Given the description of an element on the screen output the (x, y) to click on. 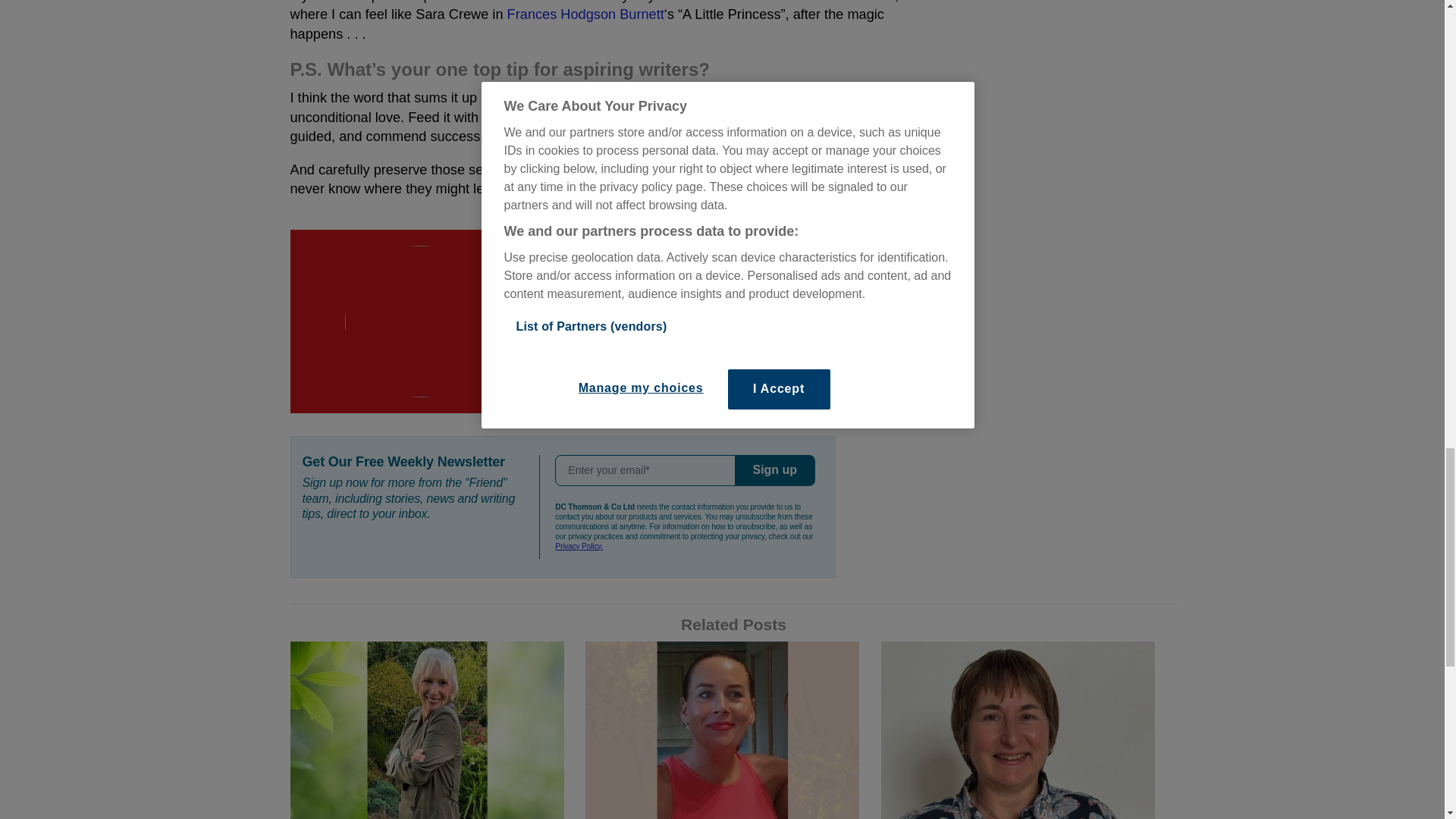
Privacy Policy. (578, 546)
Sign up (775, 470)
